Given the description of an element on the screen output the (x, y) to click on. 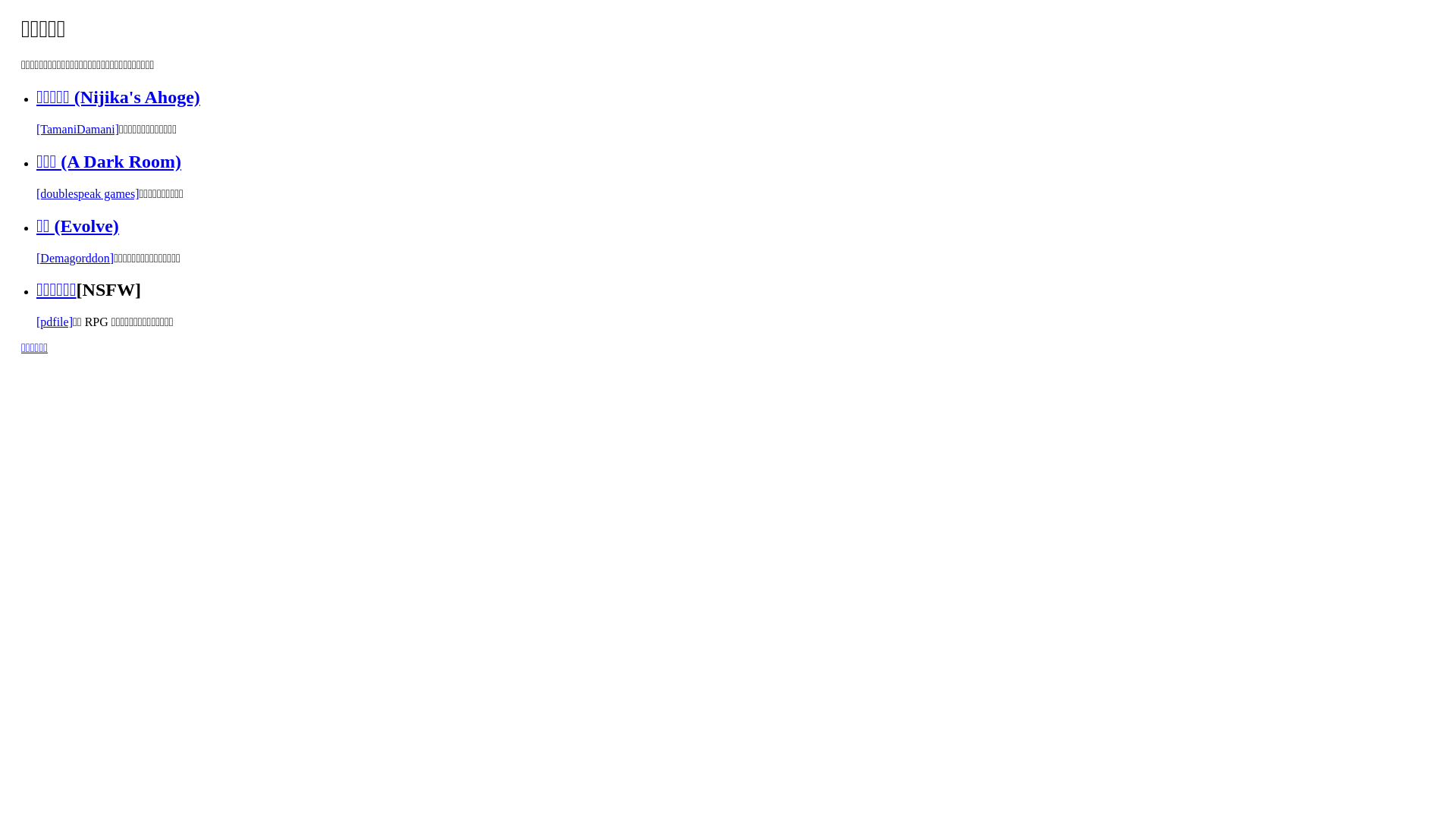
[pdfile] Element type: text (54, 321)
[doublespeak games] Element type: text (87, 193)
[TamaniDamani] Element type: text (77, 128)
[Demagorddon] Element type: text (74, 257)
